Given the description of an element on the screen output the (x, y) to click on. 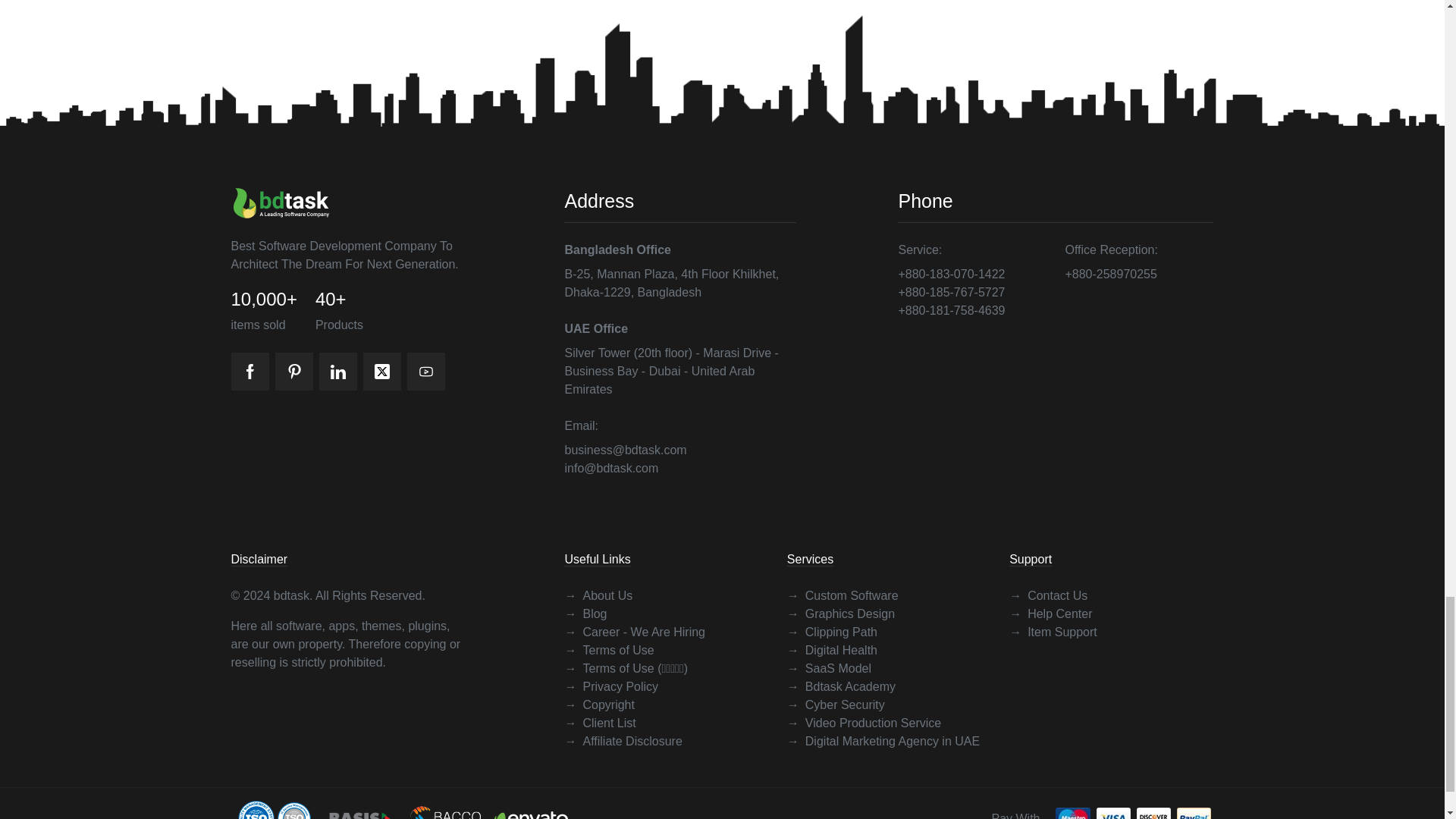
Pinterest (294, 371)
Facebook (248, 371)
Twitter (381, 371)
Youtube (425, 371)
Linkedin (337, 371)
